Given the description of an element on the screen output the (x, y) to click on. 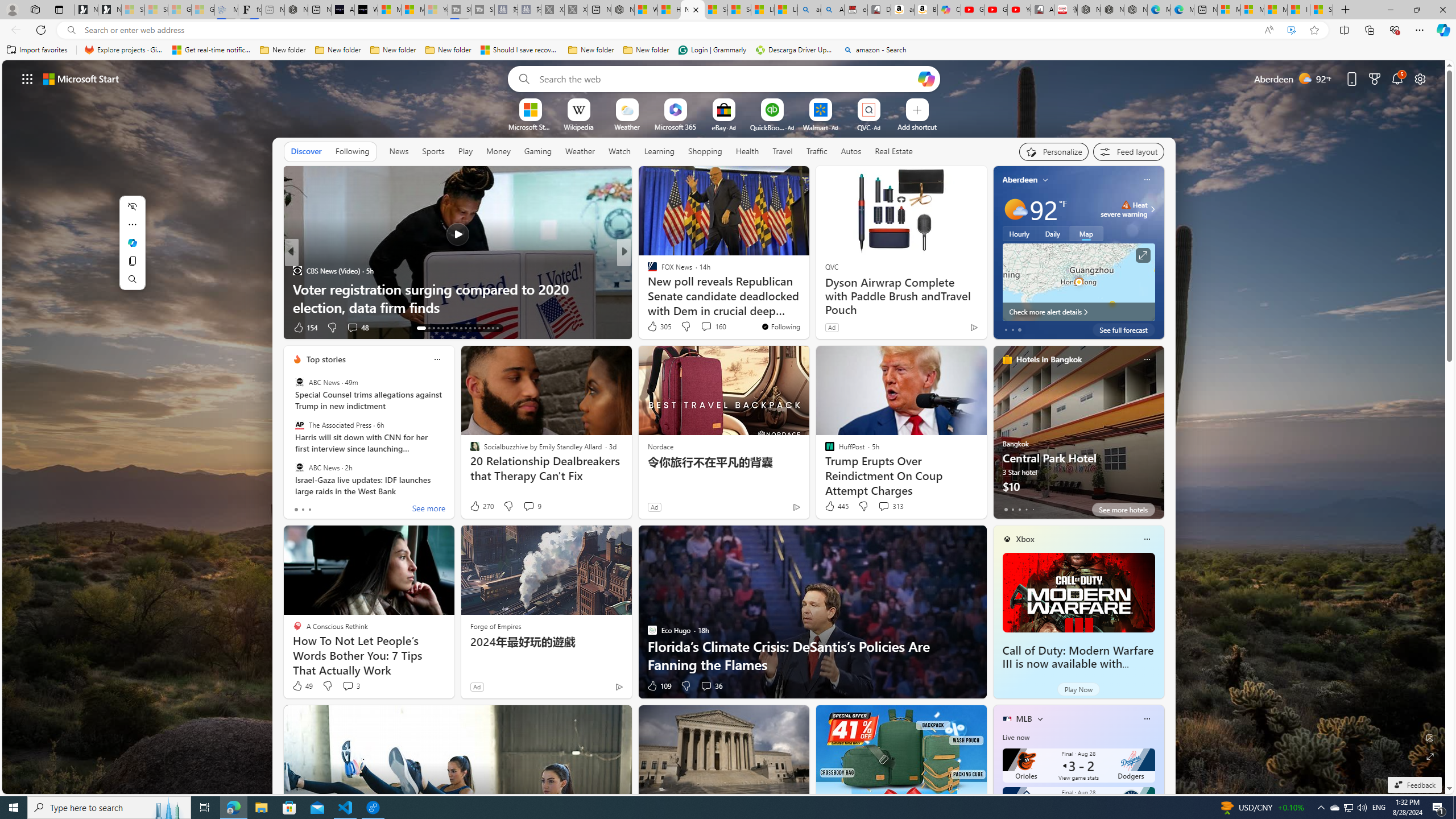
Reuters (647, 270)
Don't Use a Regular Backpack (807, 307)
Back (13, 29)
Central Park Hotel (1078, 436)
Money (498, 151)
Money (497, 151)
Add this page to favorites (Ctrl+D) (1314, 29)
Streaming Coverage | T3 - Sleeping (459, 9)
20 Like (652, 327)
View comments 9 Comment (532, 505)
View comments 36 Comment (705, 685)
Heat - Severe (1126, 204)
New folder (646, 49)
